Given the description of an element on the screen output the (x, y) to click on. 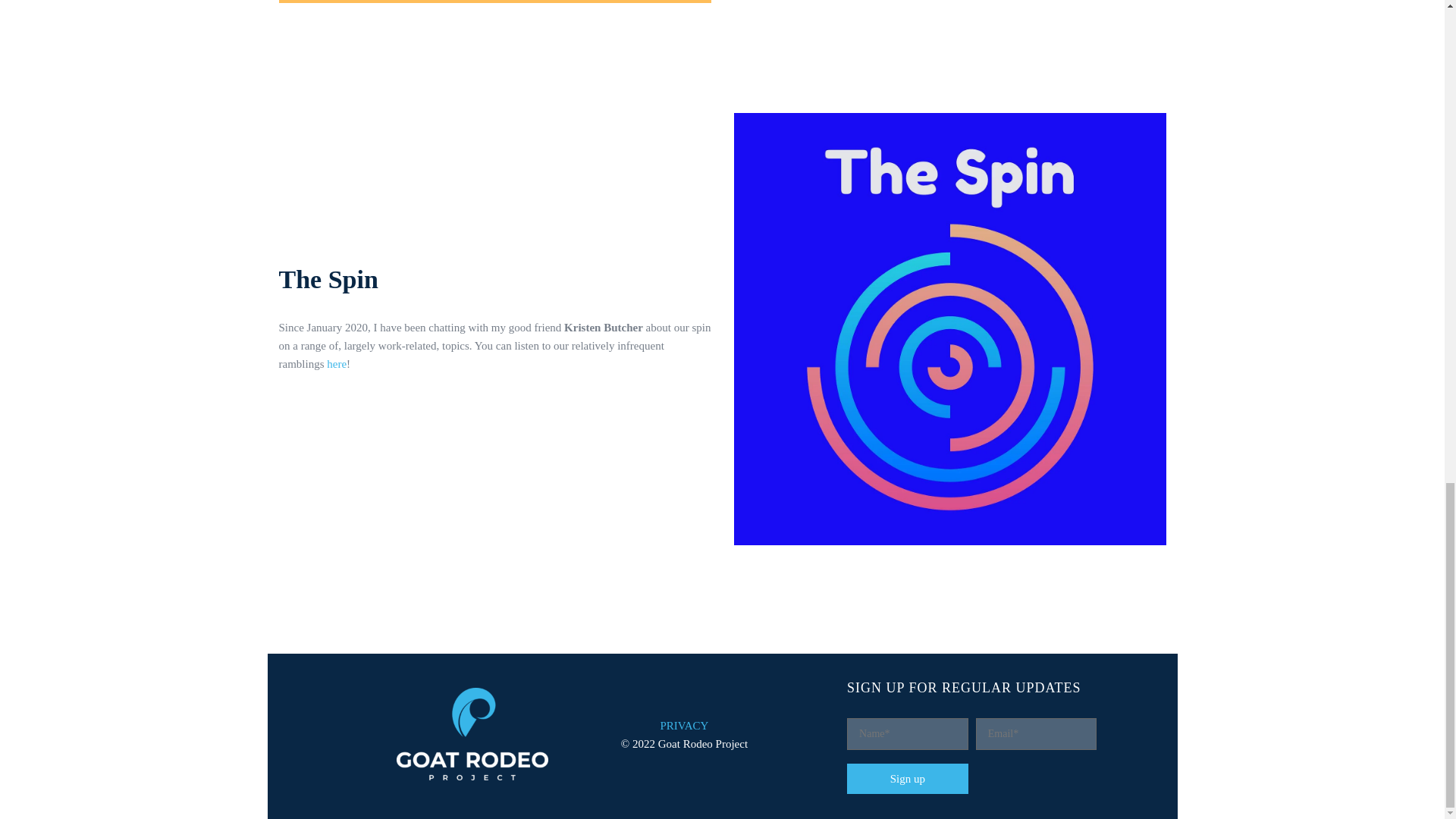
here (336, 363)
PRIVACY (685, 725)
Sign up (907, 778)
Sign up (907, 778)
